Given the description of an element on the screen output the (x, y) to click on. 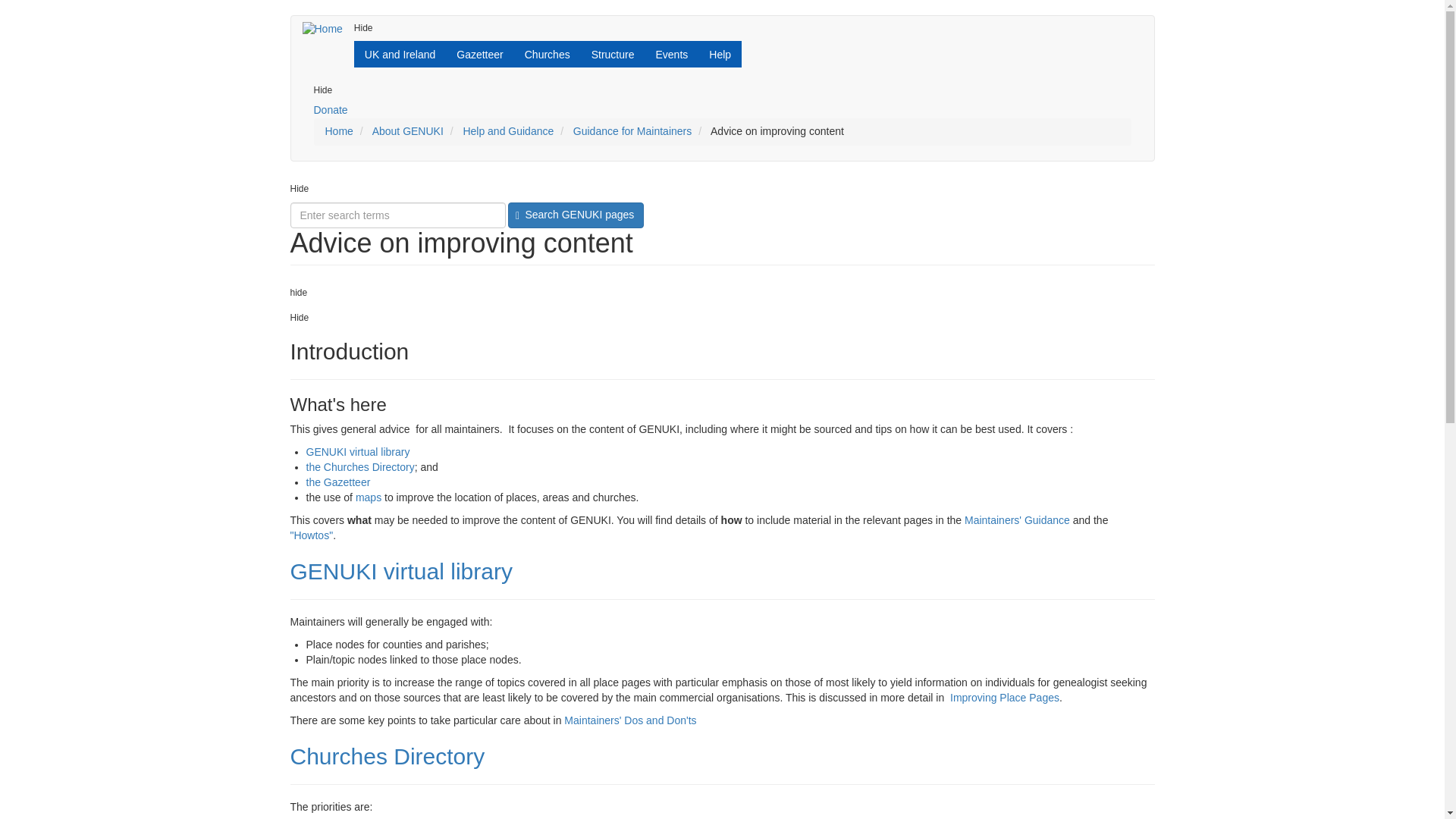
UK and Ireland (399, 53)
United Kingdom and Ireland (399, 53)
Home (327, 29)
